Given the description of an element on the screen output the (x, y) to click on. 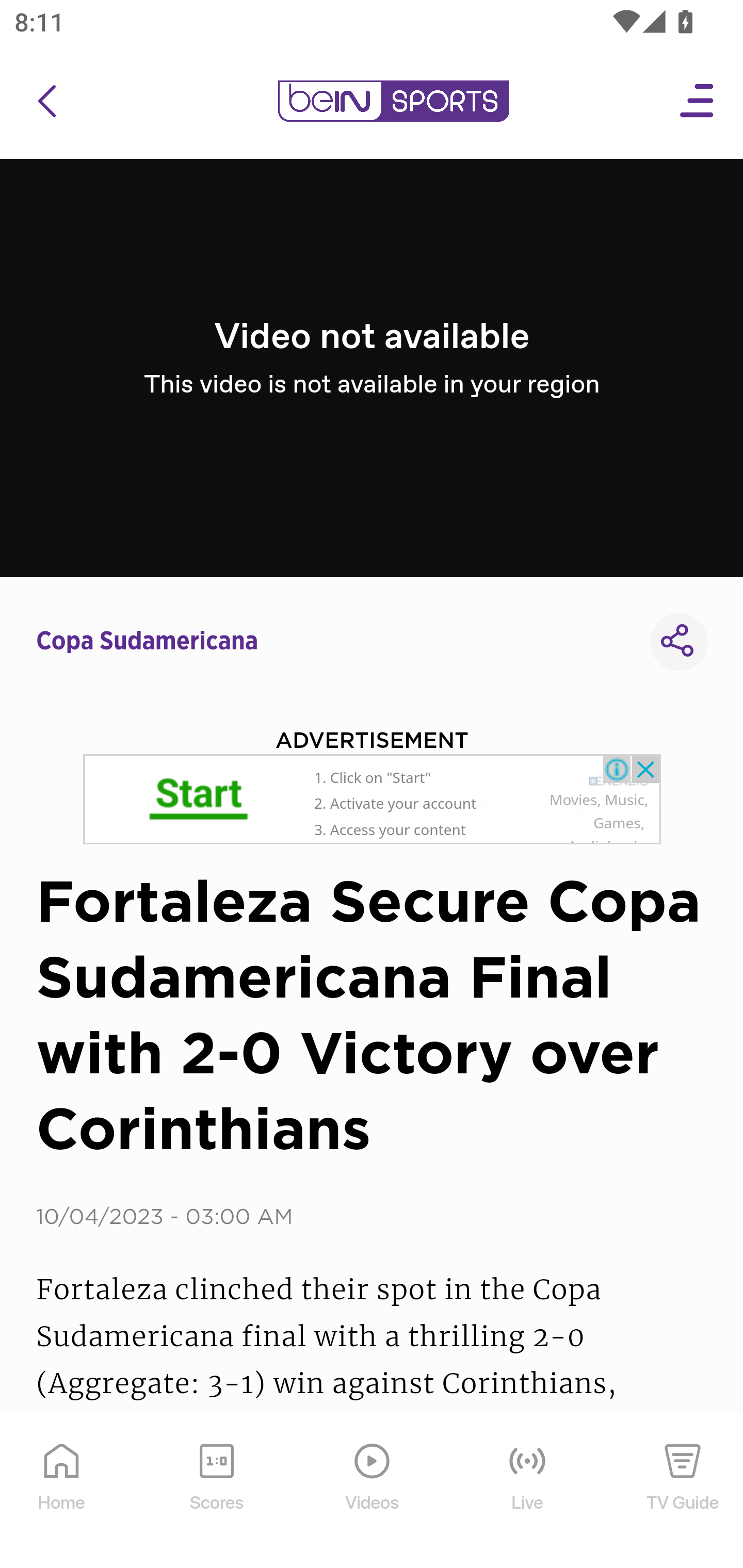
en-us?platform=mobile_android bein logo (392, 101)
icon back (46, 101)
Open Menu Icon (697, 101)
Home Home Icon Home (61, 1491)
Scores Scores Icon Scores (216, 1491)
Videos Videos Icon Videos (372, 1491)
TV Guide TV Guide Icon TV Guide (682, 1491)
